Given the description of an element on the screen output the (x, y) to click on. 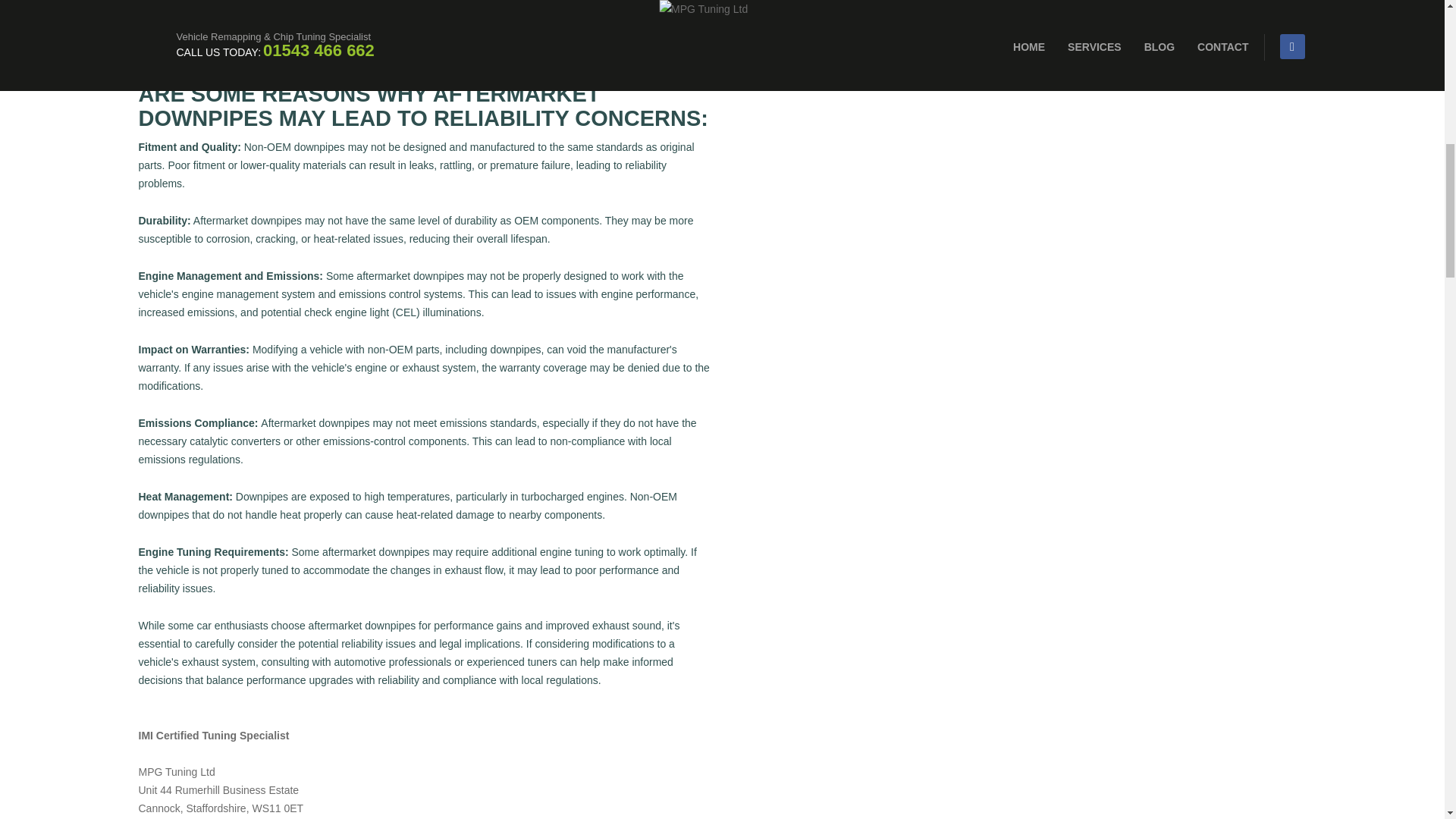
SUBMIT ENQUIRY (1068, 8)
